Given the description of an element on the screen output the (x, y) to click on. 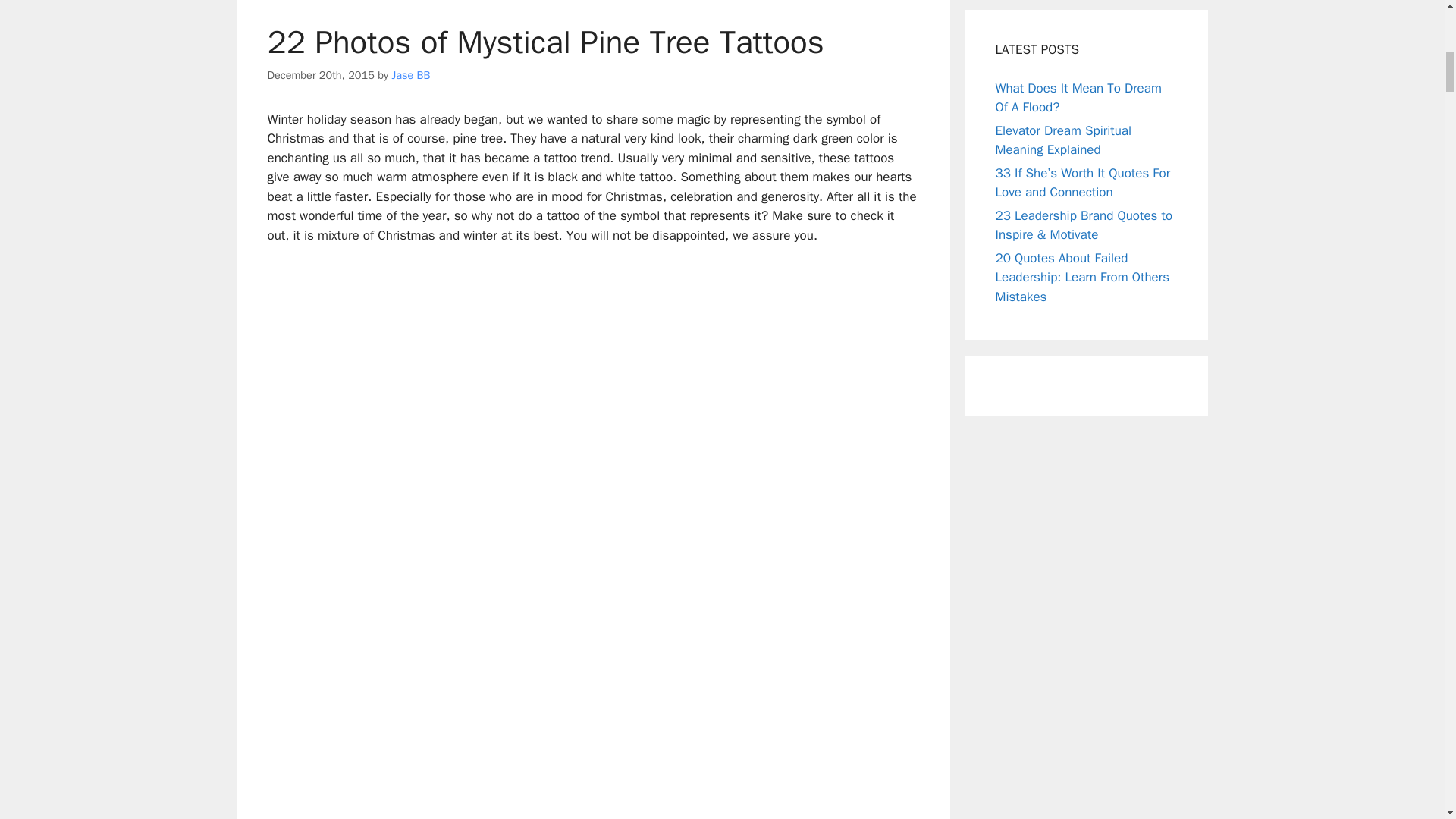
What Does It Mean To Dream Of A Flood? (1077, 98)
View all posts by Jase BB (410, 74)
Elevator Dream Spiritual Meaning Explained (1062, 140)
Jase BB (410, 74)
